Given the description of an element on the screen output the (x, y) to click on. 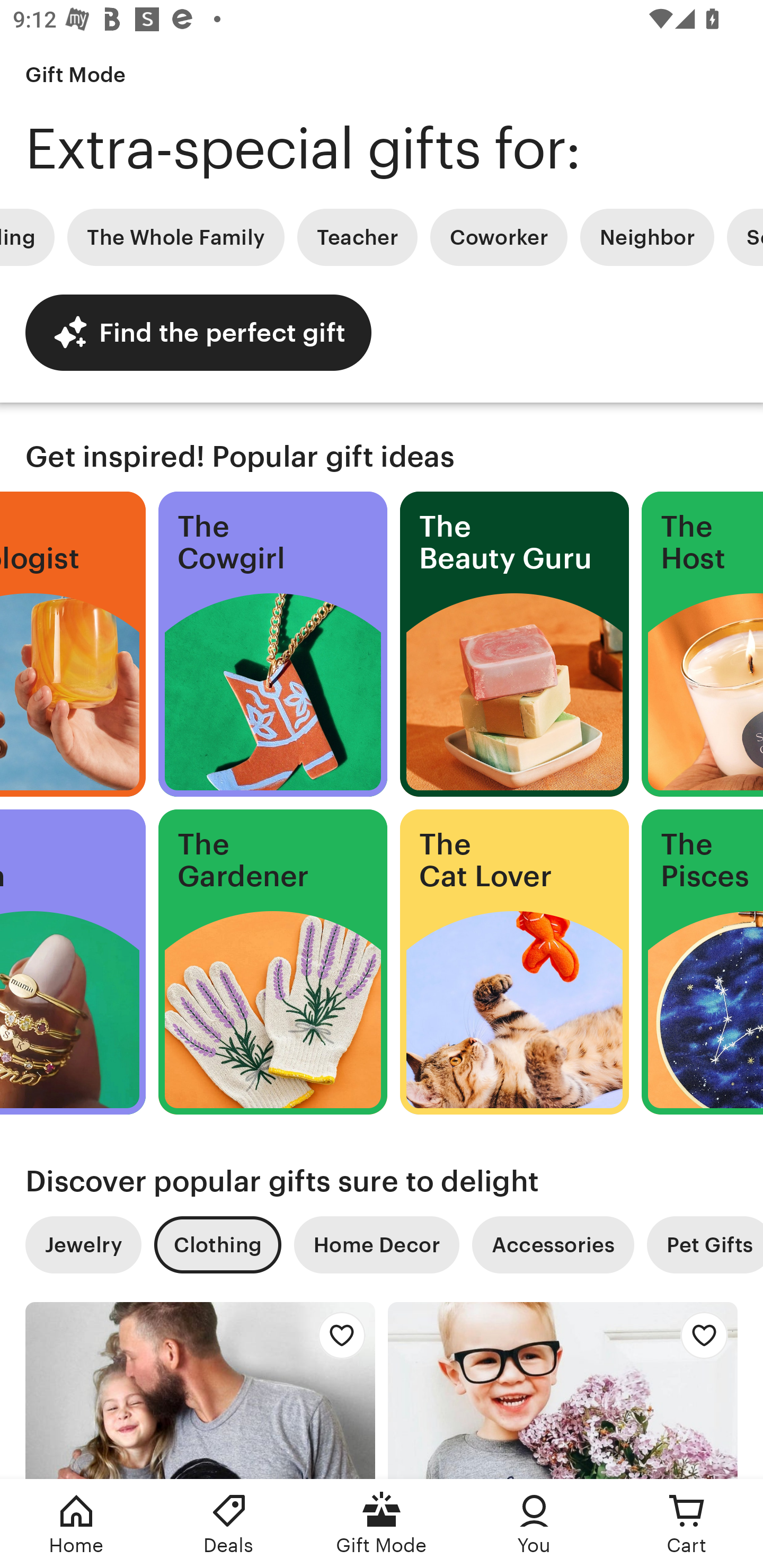
The Whole Family (175, 237)
Teacher (357, 237)
Coworker (498, 237)
Neighbor (646, 237)
Find the perfect gift (198, 332)
The Cowgirl (272, 644)
The Beauty Guru (513, 644)
The Host (702, 644)
The Gardener (272, 961)
The Cat Lover (513, 961)
The Pisces (702, 961)
Jewelry (83, 1244)
Clothing (217, 1244)
Home Decor (376, 1244)
Accessories (553, 1244)
Pet Gifts (705, 1244)
Home (76, 1523)
Deals (228, 1523)
You (533, 1523)
Cart (686, 1523)
